Given the description of an element on the screen output the (x, y) to click on. 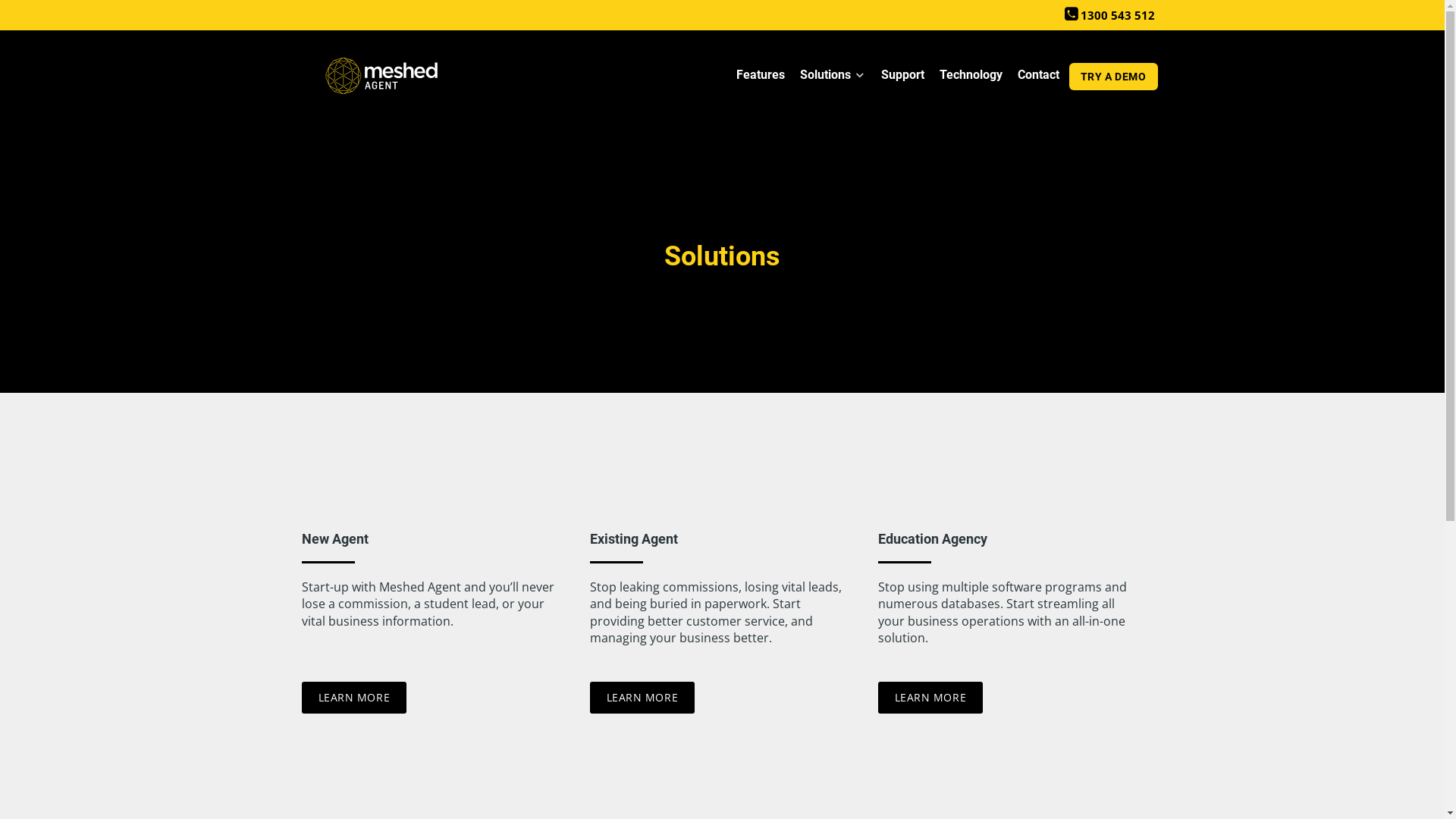
Support Element type: text (902, 76)
Technology Element type: text (970, 76)
Contact Element type: text (1038, 76)
TRY A DEMO Element type: text (1113, 76)
1300 543 512 Element type: text (1109, 14)
Features Element type: text (760, 76)
Solutions Element type: text (833, 76)
LEARN MORE Element type: text (354, 697)
LEARN MORE Element type: text (642, 697)
LEARN MORE Element type: text (930, 697)
